Given the description of an element on the screen output the (x, y) to click on. 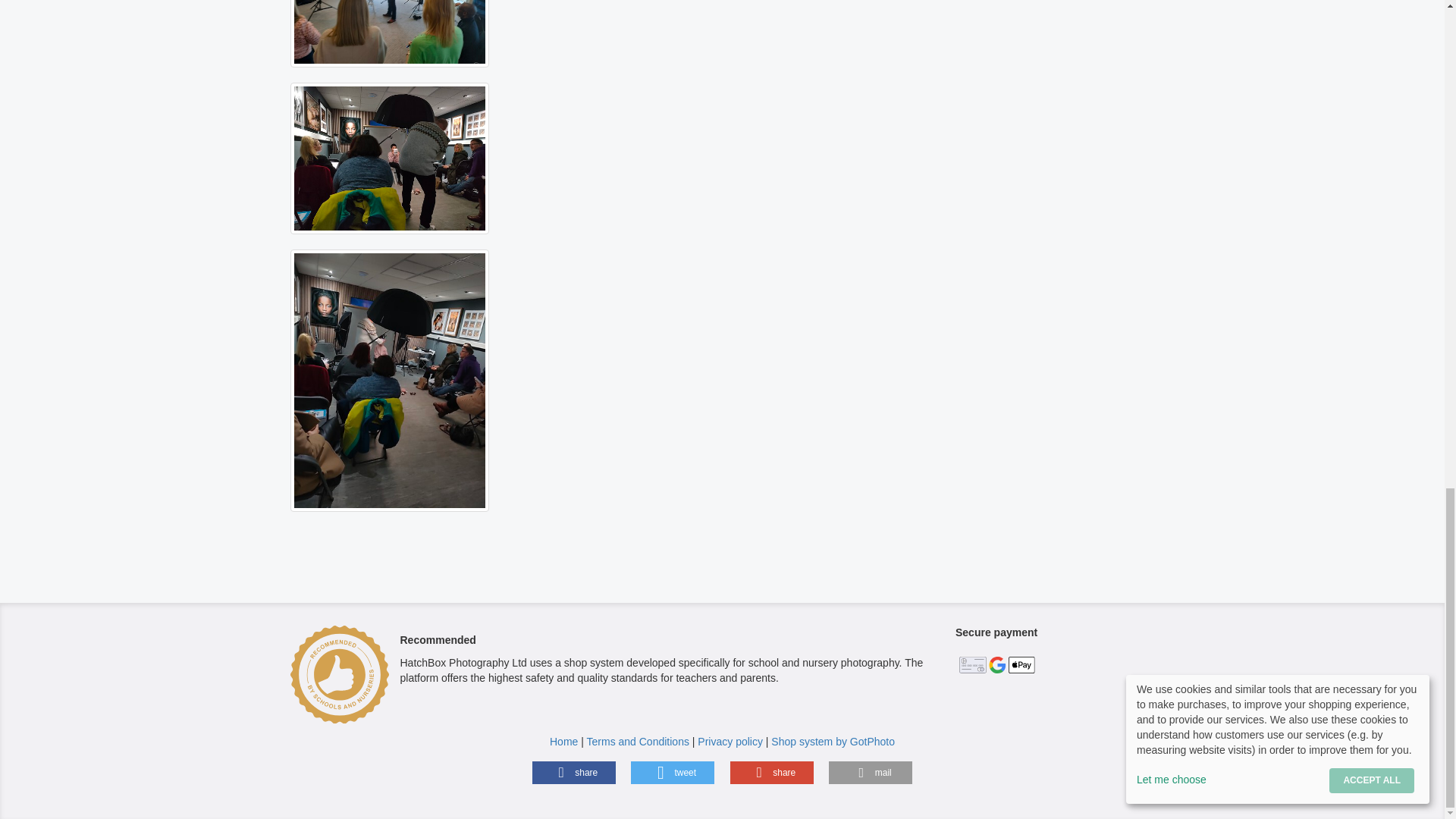
Shop system by GotPhoto (833, 741)
IMG20230216123957 (389, 157)
Send by email (870, 772)
tweet (672, 772)
Share on Twitter (672, 772)
IMG20230216123913 (389, 380)
share (771, 772)
Home (564, 741)
mail (870, 772)
Privacy policy (729, 741)
Terms and Conditions (637, 741)
share (573, 772)
IMG20230220115038 (389, 33)
Share on Facebook (573, 772)
